Given the description of an element on the screen output the (x, y) to click on. 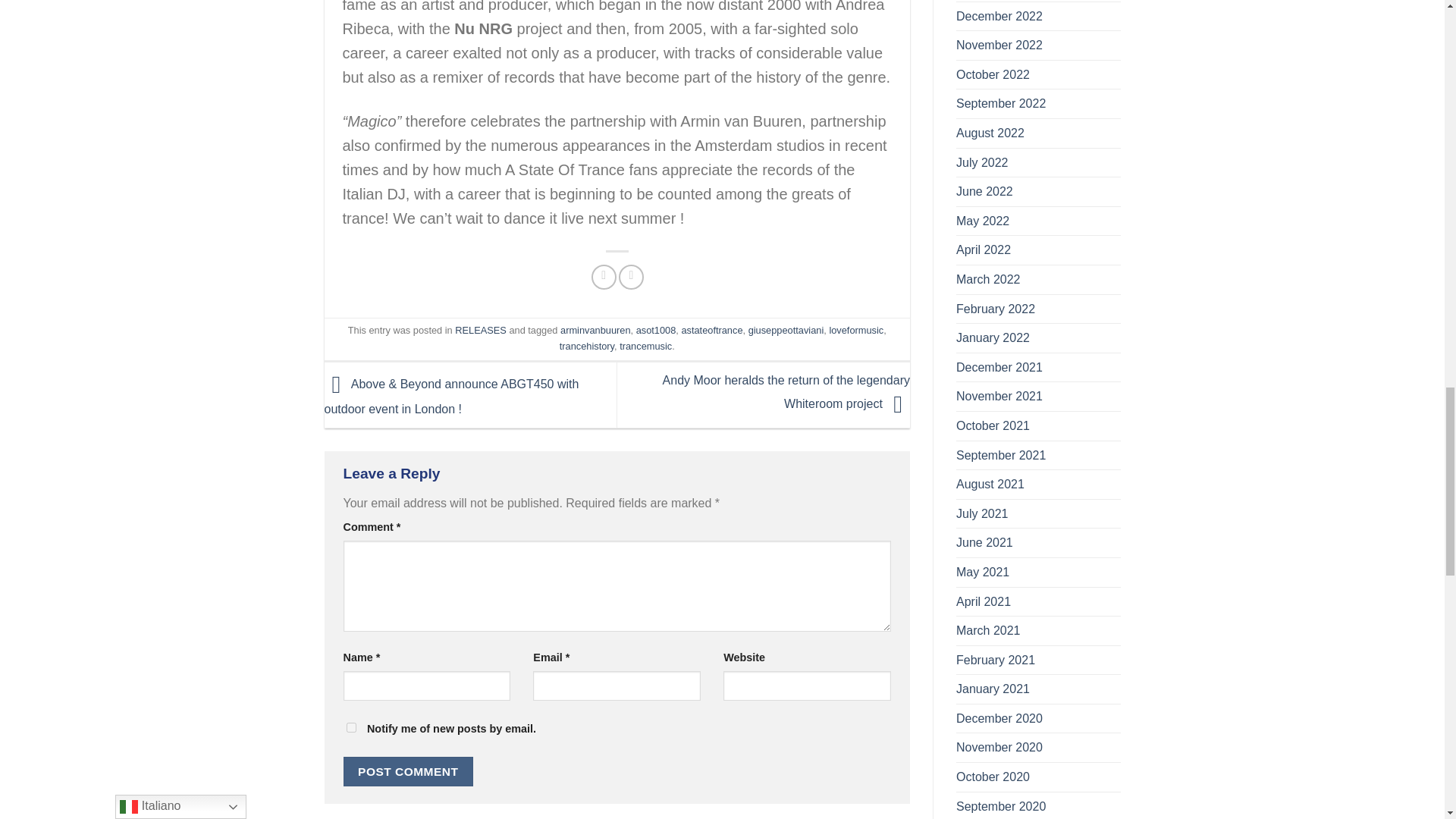
trancemusic (645, 346)
subscribe (350, 727)
loveformusic (855, 329)
Post Comment (407, 771)
trancehistory (586, 346)
astateoftrance (711, 329)
RELEASES (480, 329)
asot1008 (656, 329)
arminvanbuuren (595, 329)
